Given the description of an element on the screen output the (x, y) to click on. 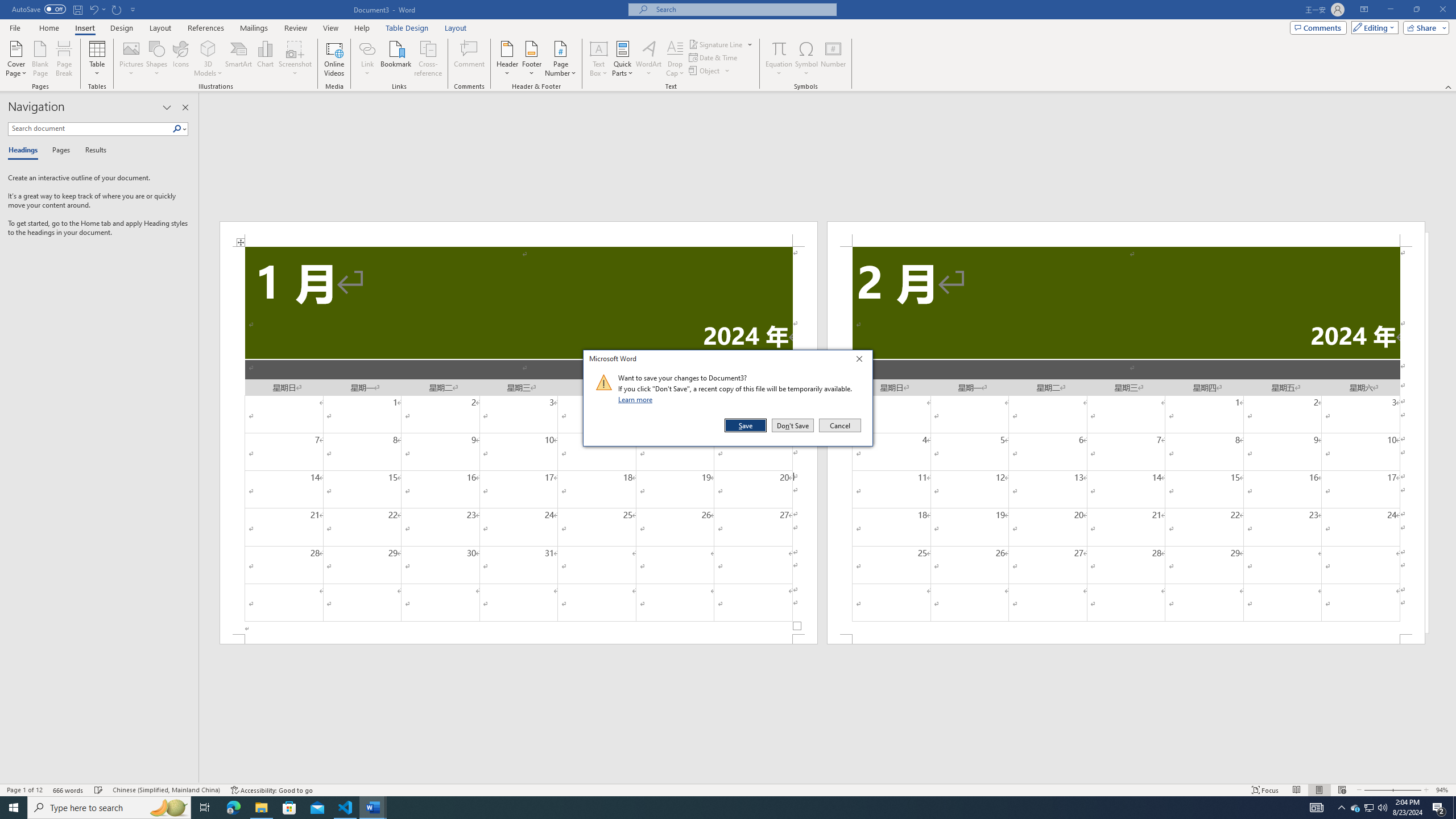
WordArt (648, 58)
Text Box (598, 58)
